Given the description of an element on the screen output the (x, y) to click on. 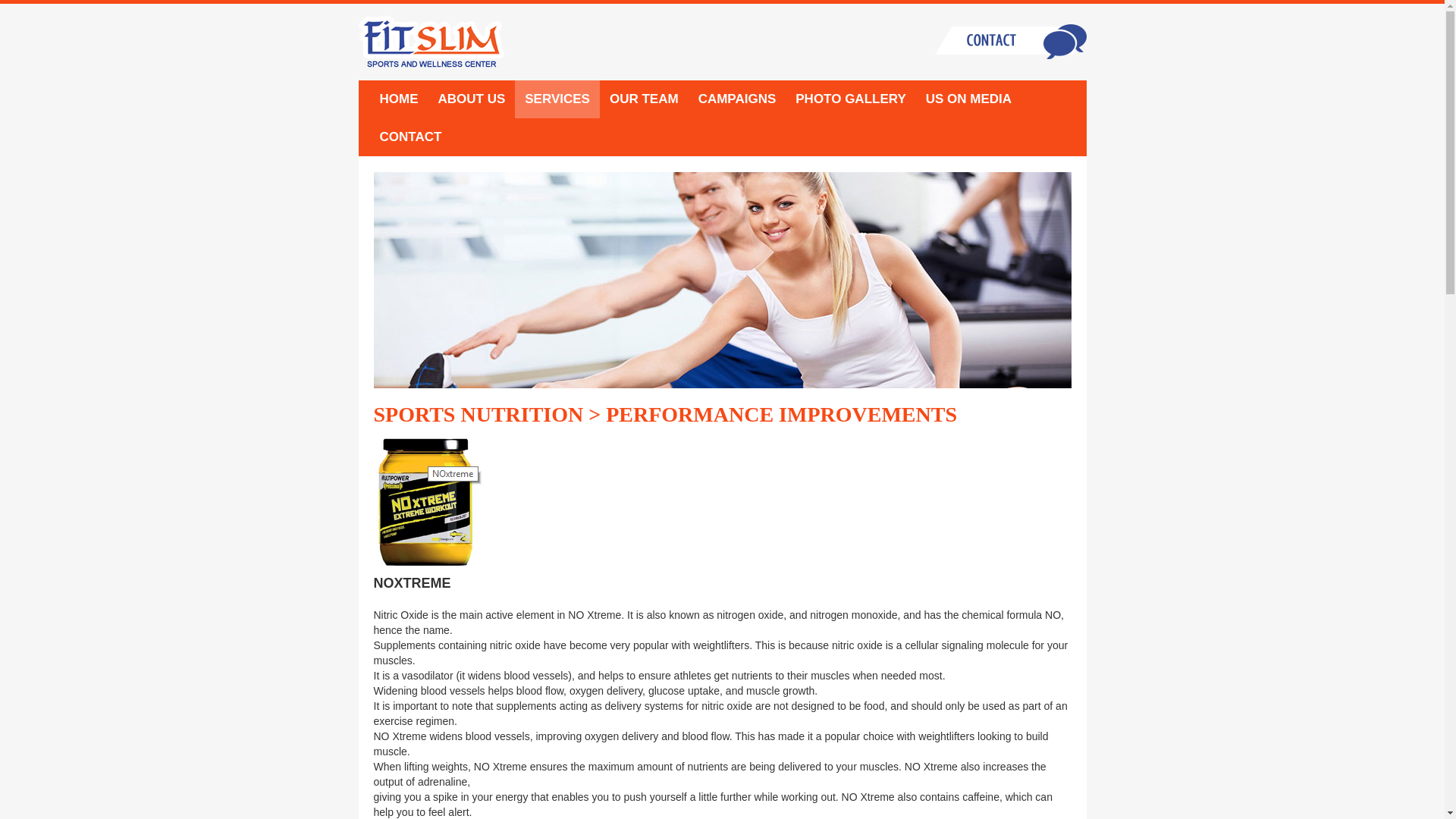
SERVICES (557, 98)
ABOUT US (471, 98)
SERVICES (557, 98)
ABOUT US (471, 98)
HOME (398, 98)
HOME (398, 98)
